Given the description of an element on the screen output the (x, y) to click on. 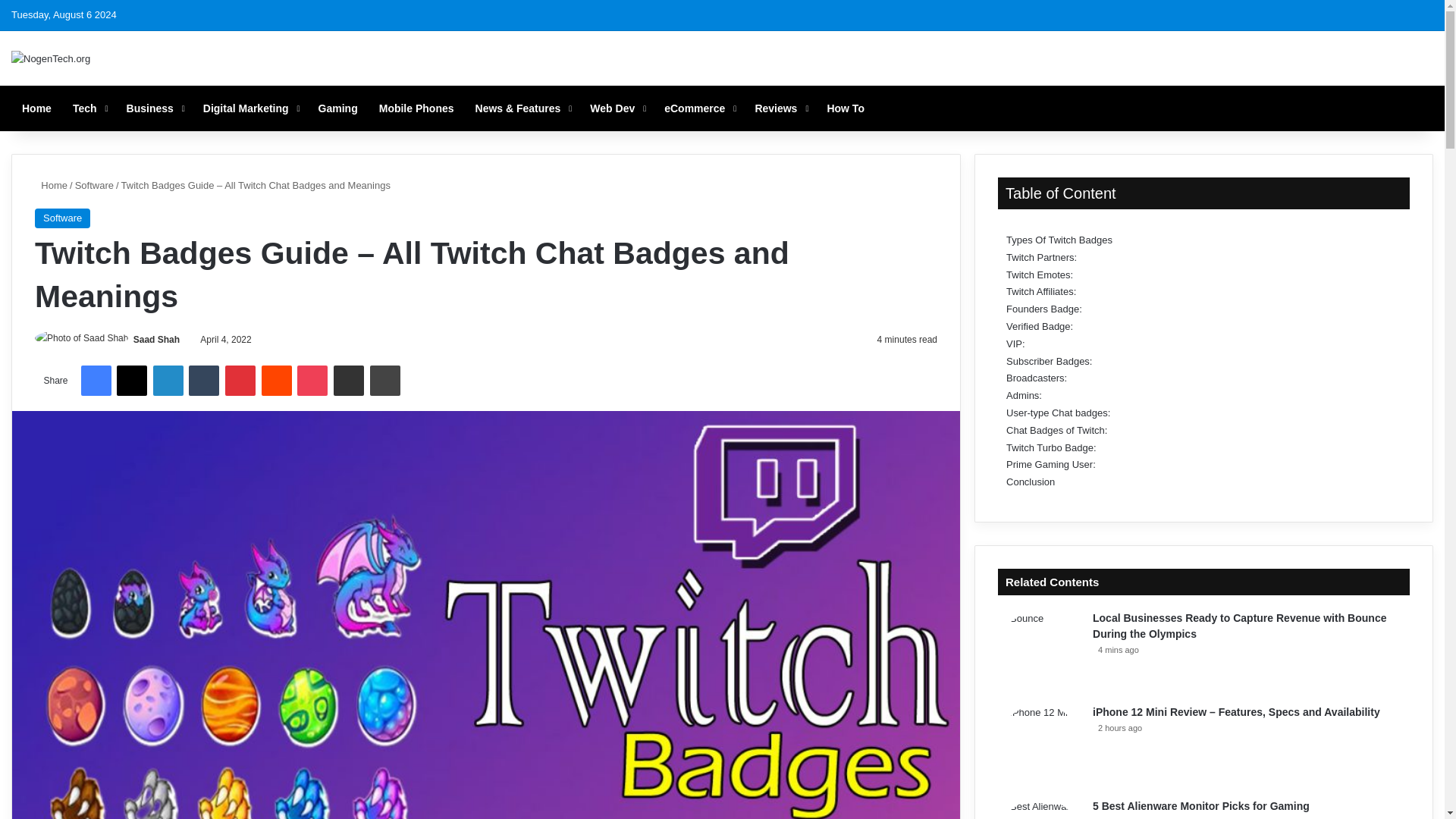
Mobile Phones (416, 108)
Tumblr (204, 380)
Share via Email (348, 380)
X (131, 380)
Digital Marketing (249, 108)
NogenTech.org (50, 57)
Home (36, 108)
Gaming (337, 108)
Saad Shah (156, 339)
Pinterest (240, 380)
Business (154, 108)
Facebook (95, 380)
Pocket (312, 380)
LinkedIn (167, 380)
Reddit (277, 380)
